Given the description of an element on the screen output the (x, y) to click on. 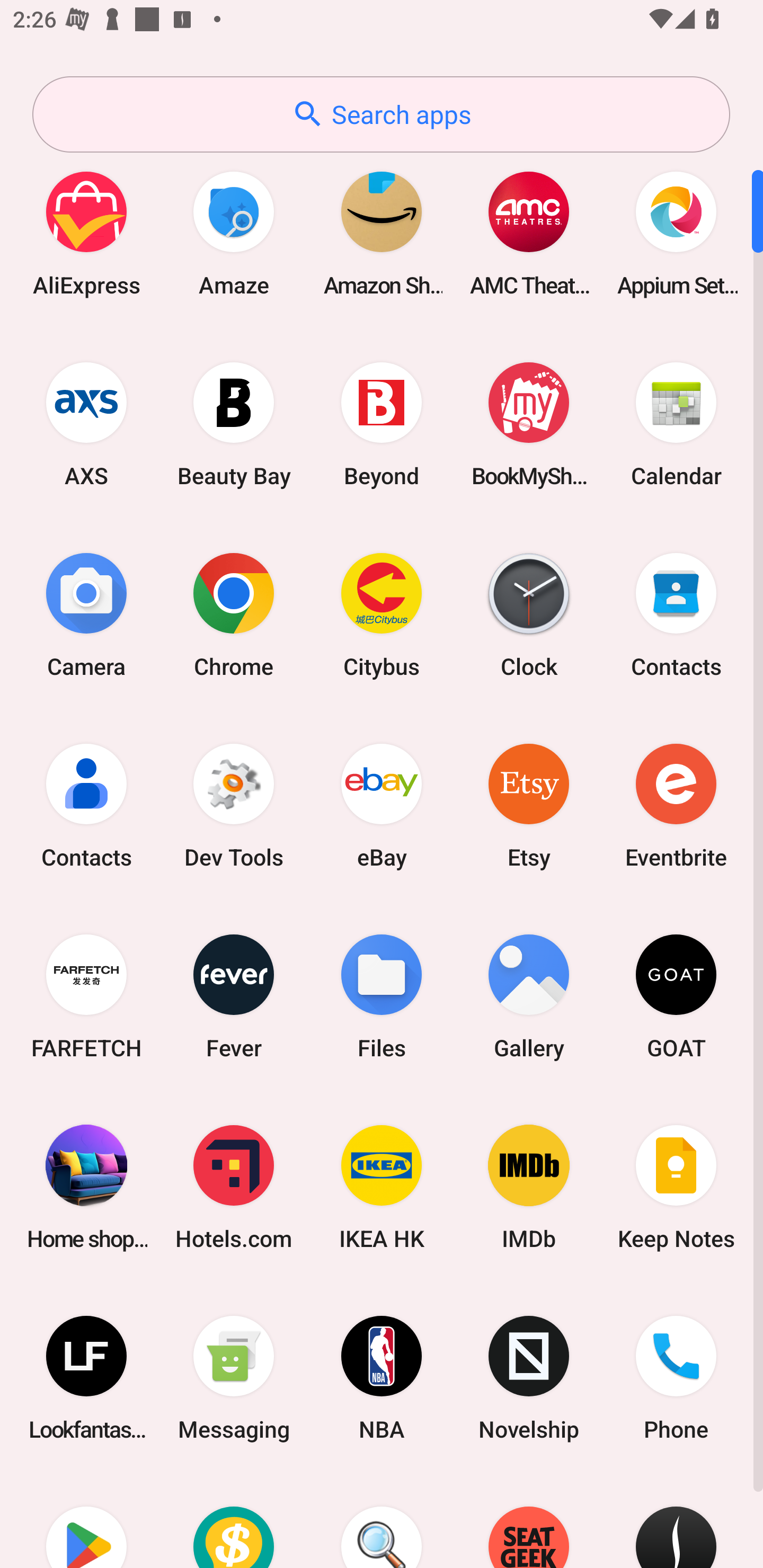
  Search apps (381, 114)
AliExpress (86, 233)
Amaze (233, 233)
Amazon Shopping (381, 233)
AMC Theatres (528, 233)
Appium Settings (676, 233)
AXS (86, 424)
Beauty Bay (233, 424)
Beyond (381, 424)
BookMyShow (528, 424)
Calendar (676, 424)
Camera (86, 614)
Chrome (233, 614)
Citybus (381, 614)
Clock (528, 614)
Contacts (676, 614)
Contacts (86, 805)
Dev Tools (233, 805)
eBay (381, 805)
Etsy (528, 805)
Eventbrite (676, 805)
FARFETCH (86, 996)
Fever (233, 996)
Files (381, 996)
Gallery (528, 996)
GOAT (676, 996)
Home shopping (86, 1186)
Hotels.com (233, 1186)
IKEA HK (381, 1186)
IMDb (528, 1186)
Keep Notes (676, 1186)
Lookfantastic (86, 1377)
Messaging (233, 1377)
NBA (381, 1377)
Novelship (528, 1377)
Phone (676, 1377)
Play Store (86, 1520)
Price (233, 1520)
Search (381, 1520)
SeatGeek (528, 1520)
Sephora (676, 1520)
